Given the description of an element on the screen output the (x, y) to click on. 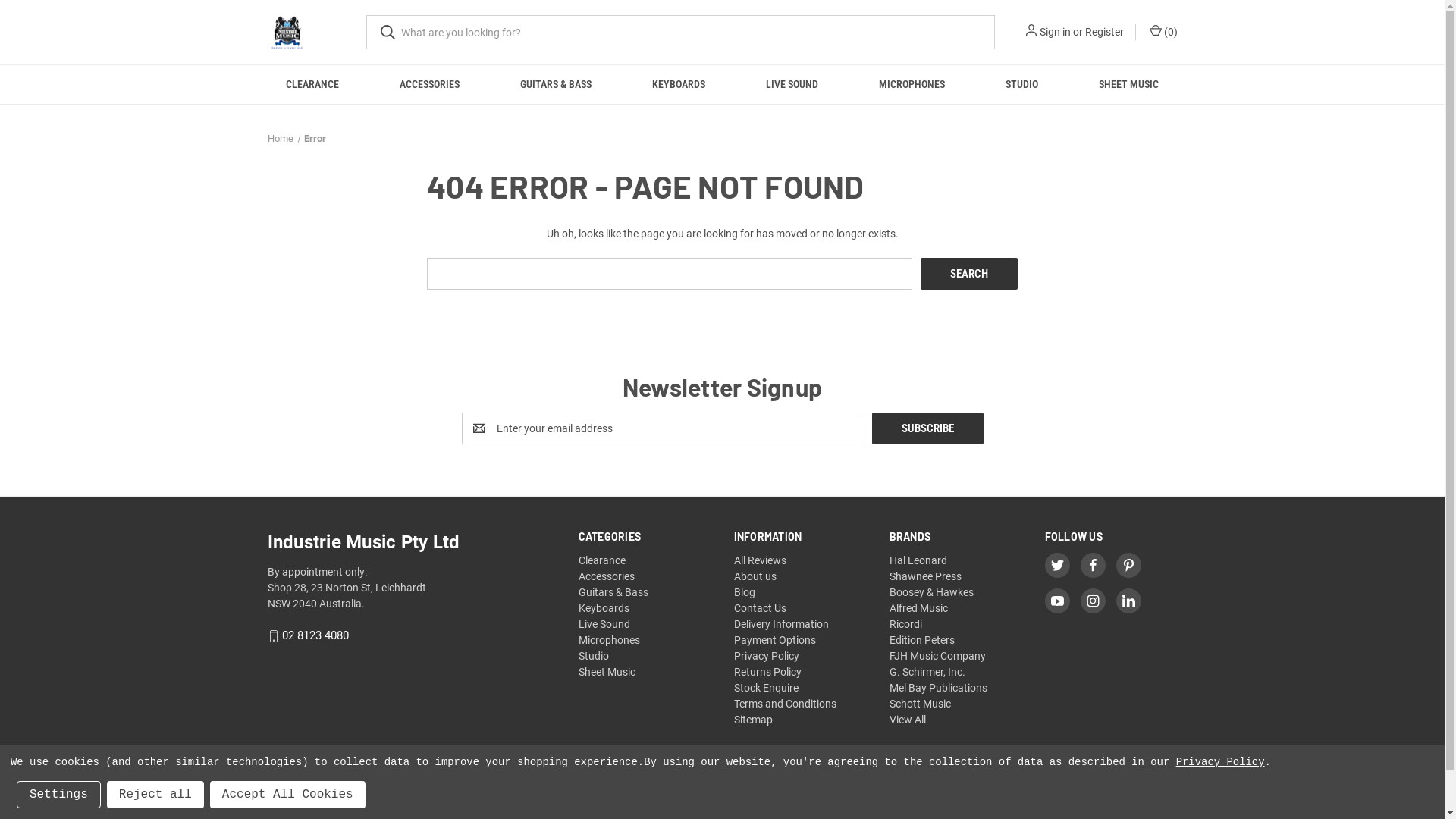
Sheet Music Element type: text (606, 671)
Schott Music Element type: text (919, 703)
View All Element type: text (907, 719)
Privacy Policy Element type: text (1220, 762)
Accept All Cookies Element type: text (287, 794)
ACCESSORIES Element type: text (429, 84)
Clearance Element type: text (601, 560)
About us Element type: text (755, 576)
CLEARANCE Element type: text (313, 84)
Sign in Element type: text (1054, 32)
Studio Element type: text (593, 655)
Guitars & Bass Element type: text (613, 592)
G. Schirmer, Inc. Element type: text (927, 671)
Shawnee Press Element type: text (925, 576)
Error Element type: text (315, 138)
Subscribe Element type: text (927, 428)
02 8123 4080 Element type: text (315, 636)
Sitemap Element type: text (753, 719)
All Reviews Element type: text (760, 560)
Settings Element type: text (58, 794)
Returns Policy Element type: text (767, 671)
Industrie Music Pty Ltd Element type: hover (285, 32)
Register Element type: text (1103, 32)
Microphones Element type: text (609, 639)
Contact Us Element type: text (760, 608)
(0) Element type: text (1161, 32)
Reject all Element type: text (154, 794)
GUITARS & BASS Element type: text (555, 84)
Alfred Music Element type: text (918, 608)
LIVE SOUND Element type: text (791, 84)
Stock Enquire Element type: text (766, 687)
Accessories Element type: text (606, 576)
Terms and Conditions Element type: text (785, 703)
STUDIO Element type: text (1021, 84)
SHEET MUSIC Element type: text (1128, 84)
Blog Element type: text (744, 592)
Privacy Policy Element type: text (766, 655)
MICROPHONES Element type: text (911, 84)
Mel Bay Publications Element type: text (938, 687)
Delivery Information Element type: text (781, 624)
Ricordi Element type: text (905, 624)
Hal Leonard Element type: text (918, 560)
KEYBOARDS Element type: text (678, 84)
FJH Music Company Element type: text (937, 655)
Search Element type: text (968, 273)
Keyboards Element type: text (603, 608)
Live Sound Element type: text (604, 624)
Home Element type: text (279, 138)
Payment Options Element type: text (774, 639)
Edition Peters Element type: text (921, 639)
Boosey & Hawkes Element type: text (931, 592)
